Given the description of an element on the screen output the (x, y) to click on. 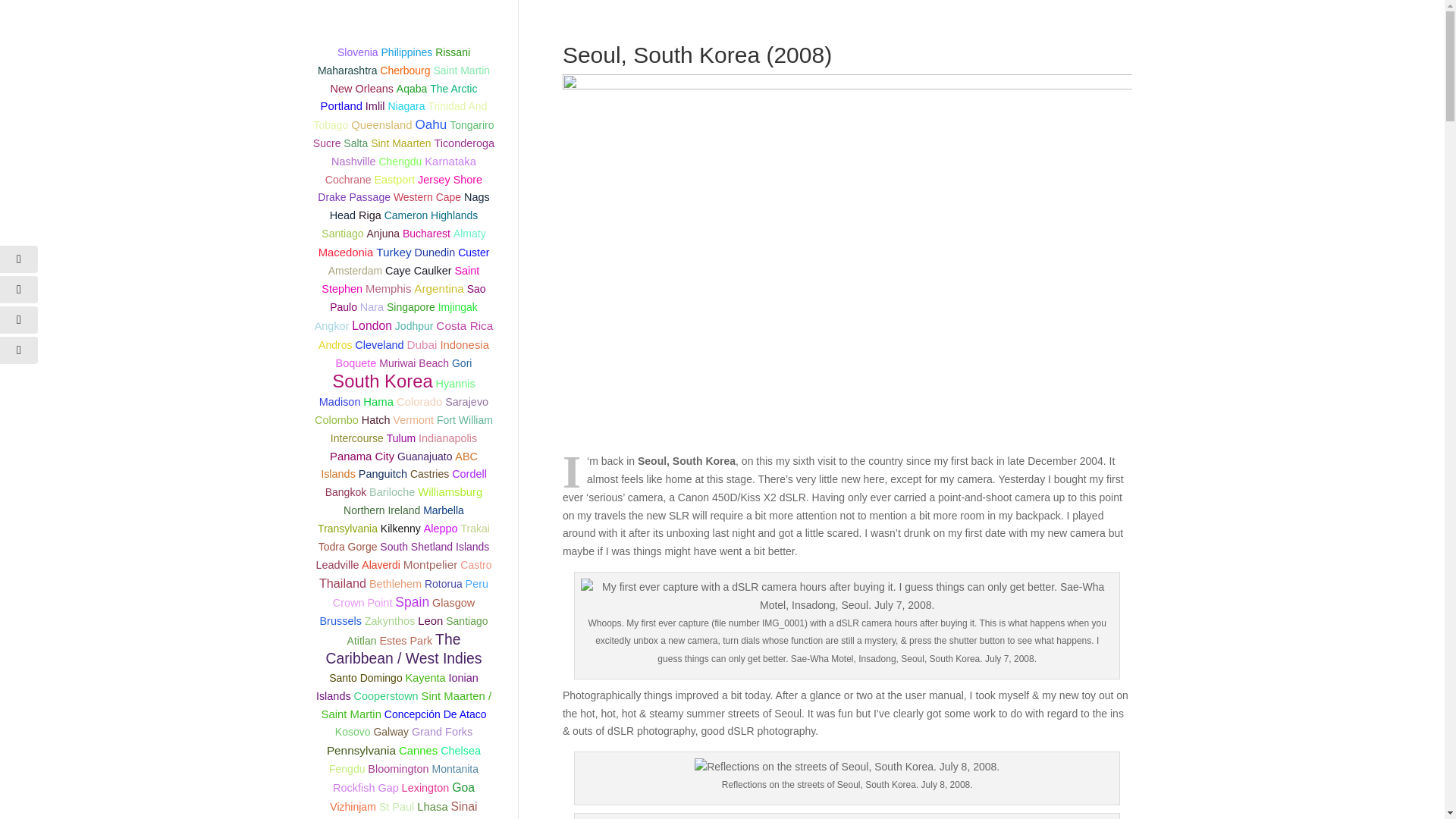
1 topic (452, 51)
Tongariro (471, 124)
1 topic (406, 105)
Chengdu (400, 161)
Drake Passage (353, 196)
Trinidad And Tobago (399, 115)
Jersey Shore (449, 179)
1 topic (460, 70)
Eastport (394, 179)
1 topic (399, 115)
